Given the description of an element on the screen output the (x, y) to click on. 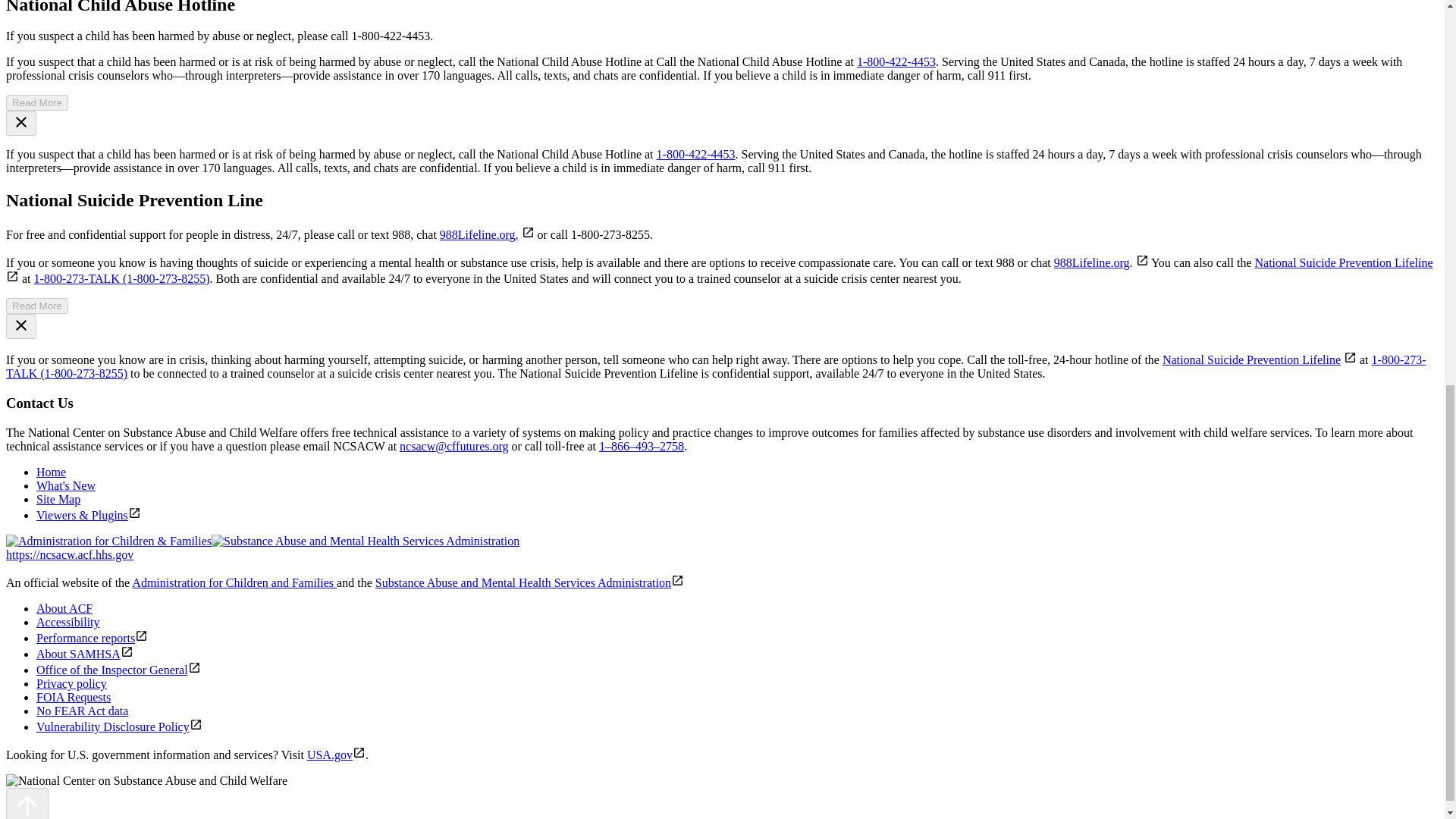
1-800-422-4453 (896, 61)
988Lifeline.org, (478, 234)
1-800-422-4453 (695, 154)
Read More (36, 102)
Read More (36, 305)
988Lifeline.org (1091, 262)
National Suicide Prevention Lifeline (1250, 359)
